Given the description of an element on the screen output the (x, y) to click on. 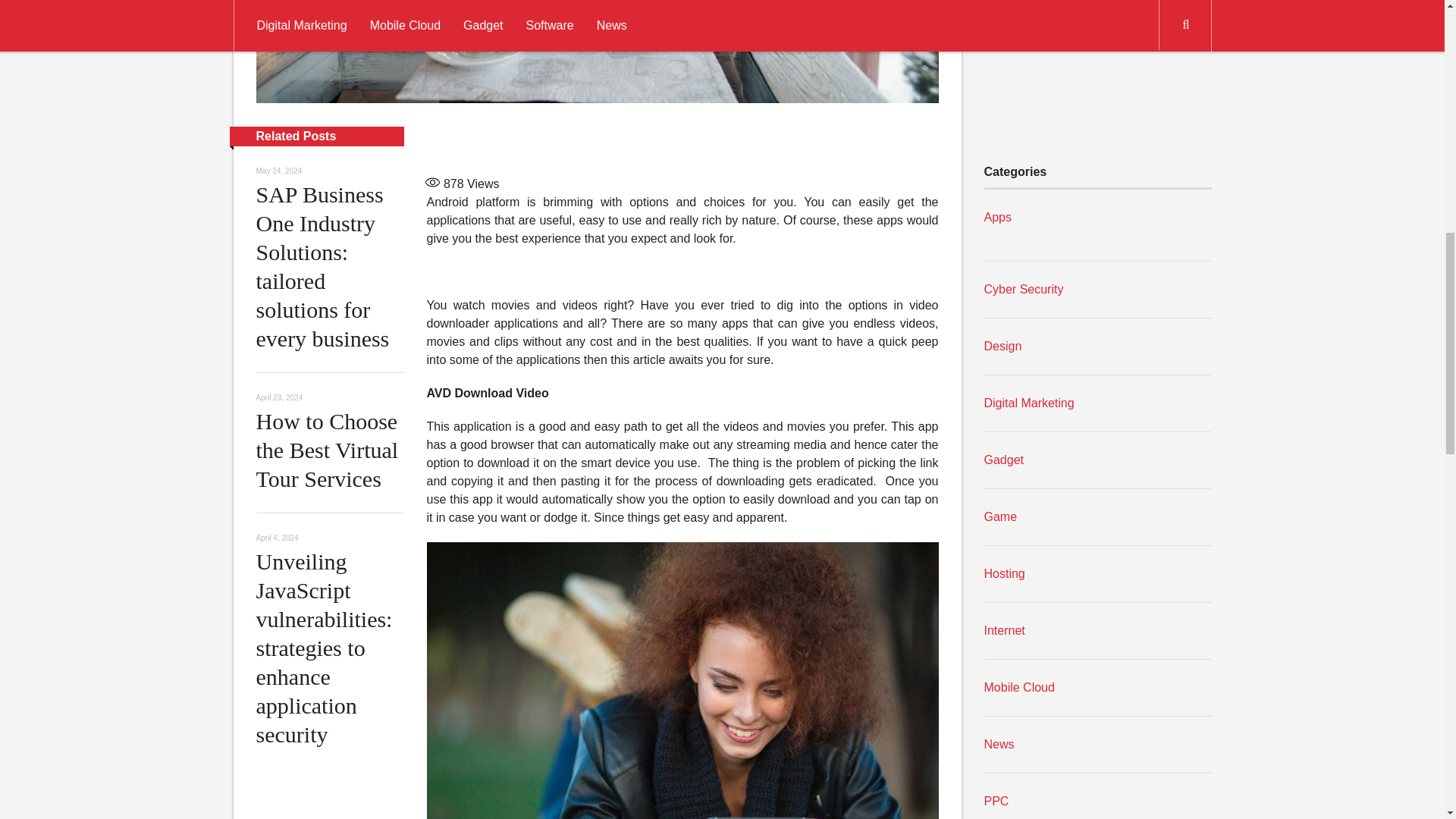
How to Choose the Best Virtual Tour Services (327, 449)
Cyber Security (1024, 288)
Apps (997, 216)
Permalink to How to Choose the Best Virtual Tour Services (327, 449)
